Given the description of an element on the screen output the (x, y) to click on. 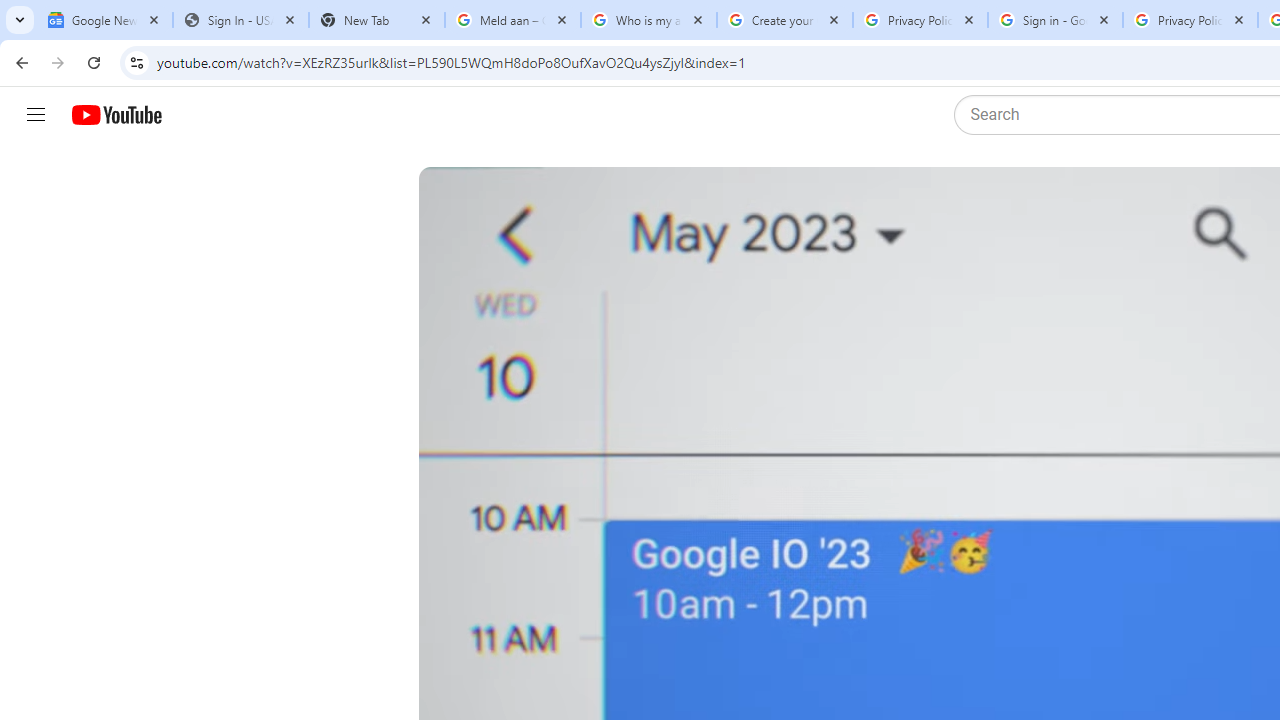
Sign in - Google Accounts (1055, 20)
